Given the description of an element on the screen output the (x, y) to click on. 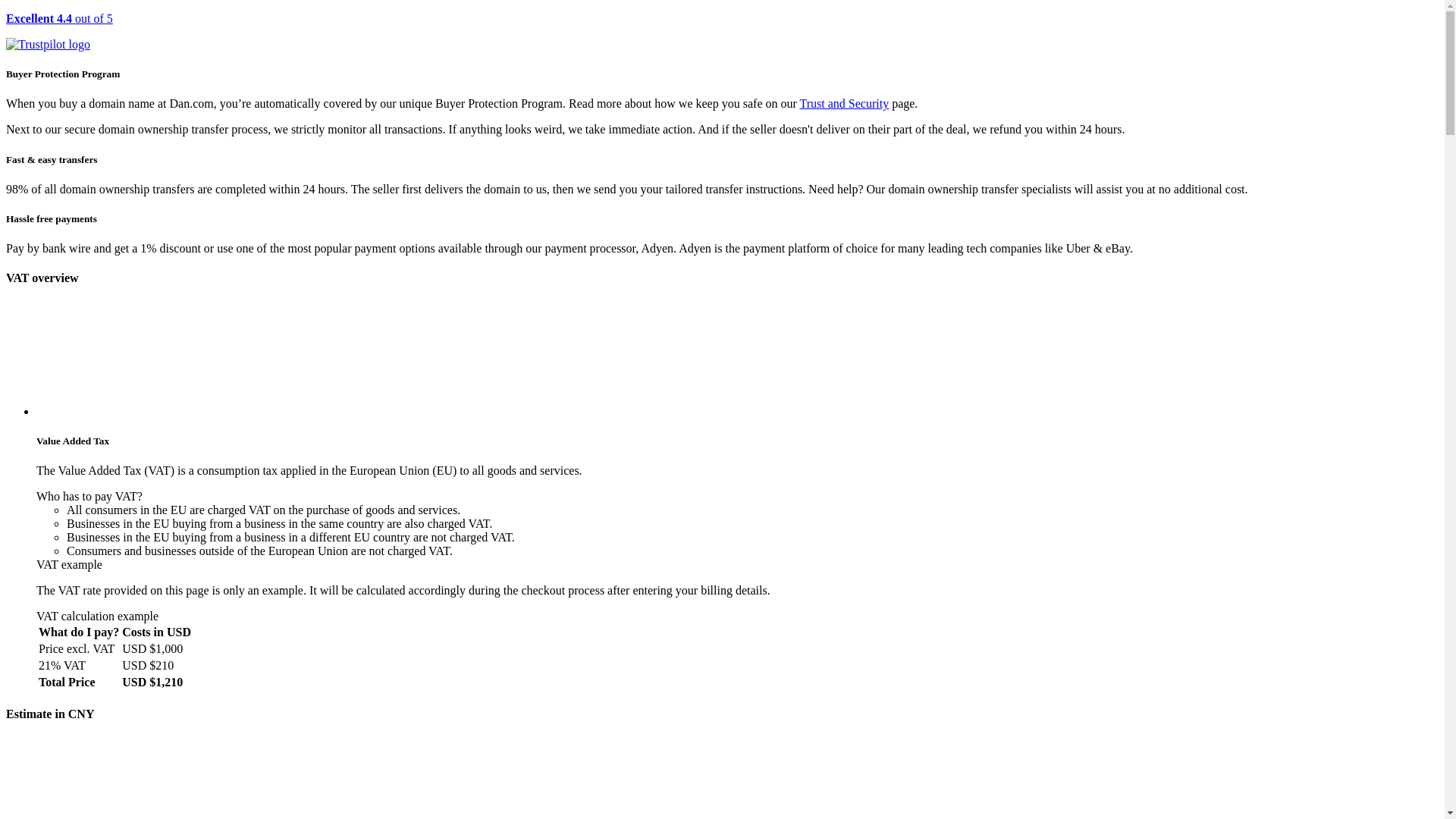
Trust and Security Element type: text (844, 103)
Excellent 4.4 out of 5 Element type: text (722, 31)
